Given the description of an element on the screen output the (x, y) to click on. 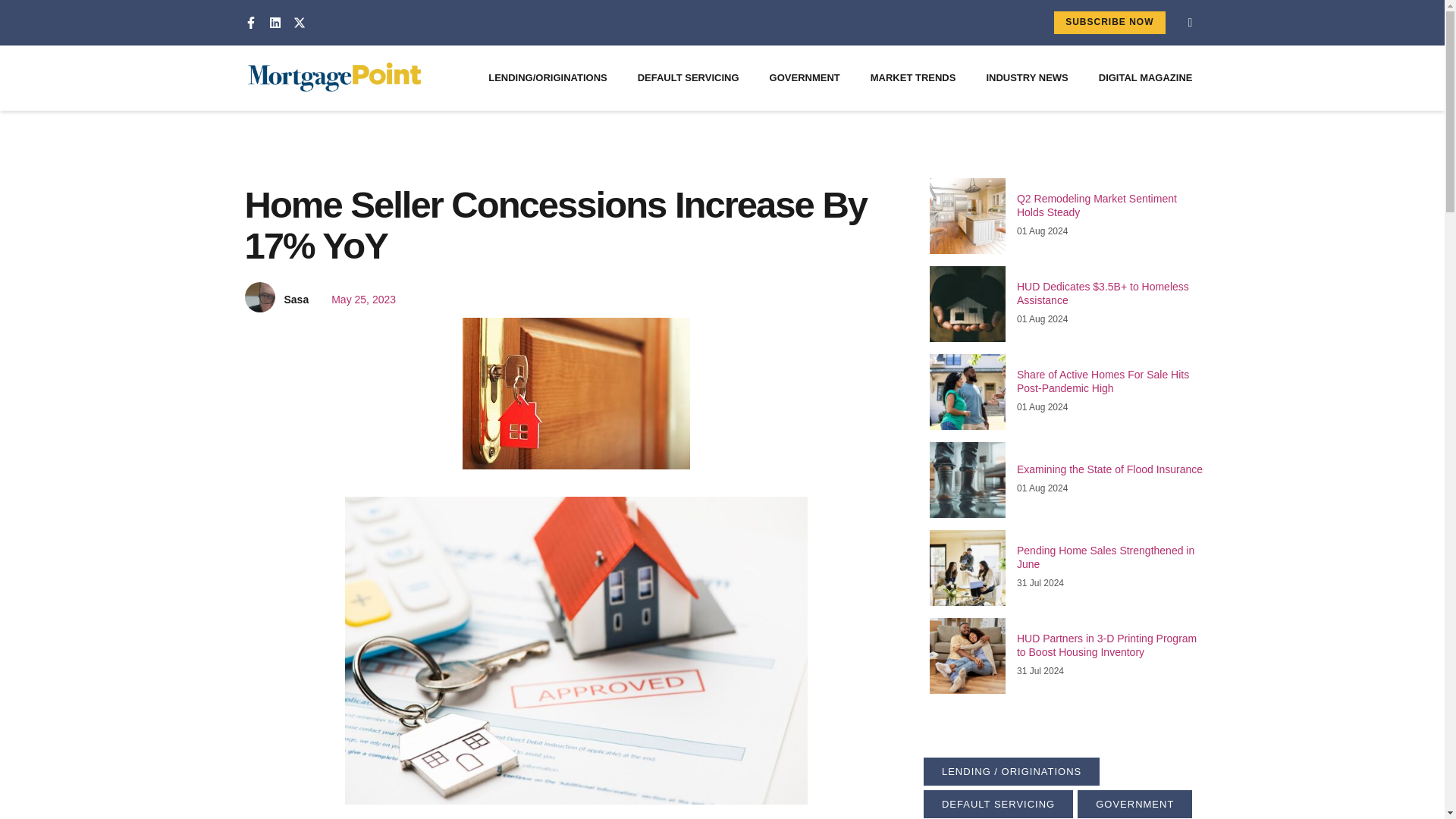
042320-HappyHomeowners - The MortgagePoint (968, 655)
GOVERNMENT (805, 77)
May 25, 2023 (355, 299)
Sasa (295, 299)
 - The MortgagePoint (576, 393)
 - The MortgagePoint (968, 215)
woman-realtor-in-front-of-a-house - The MortgagePoint (968, 391)
themp-logo - The MortgagePoint (333, 76)
INDUSTRY NEWS (1027, 77)
SUBSCRIBE NOW (1109, 22)
MARKET TRENDS (913, 77)
DIGITAL MAGAZINE (1145, 77)
